Given the description of an element on the screen output the (x, y) to click on. 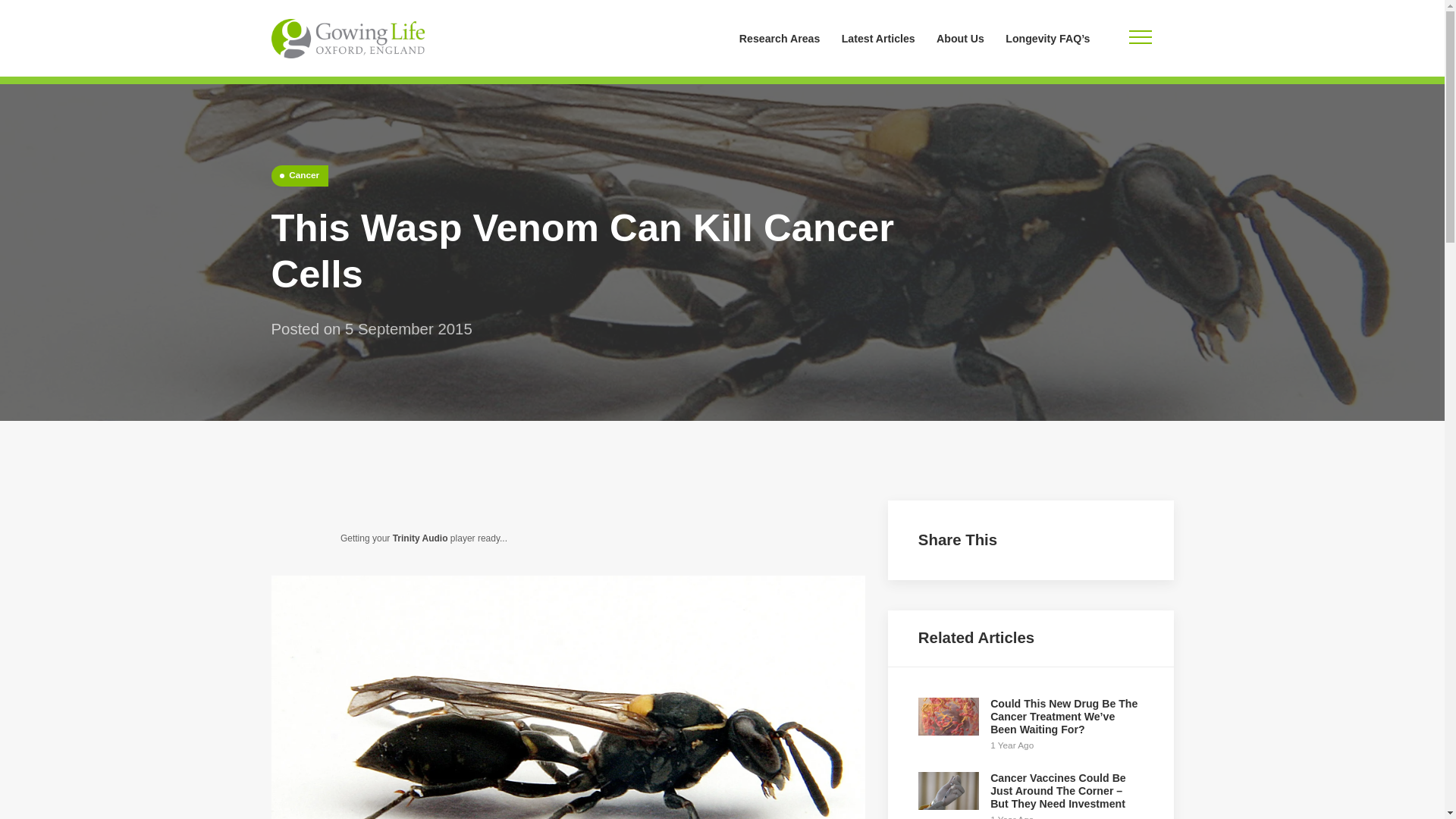
Research Areas (779, 38)
Cancer (299, 175)
Trinity Audio (420, 538)
About Us (960, 38)
Open Navigation Menu (1139, 38)
Latest Articles (877, 38)
